Given the description of an element on the screen output the (x, y) to click on. 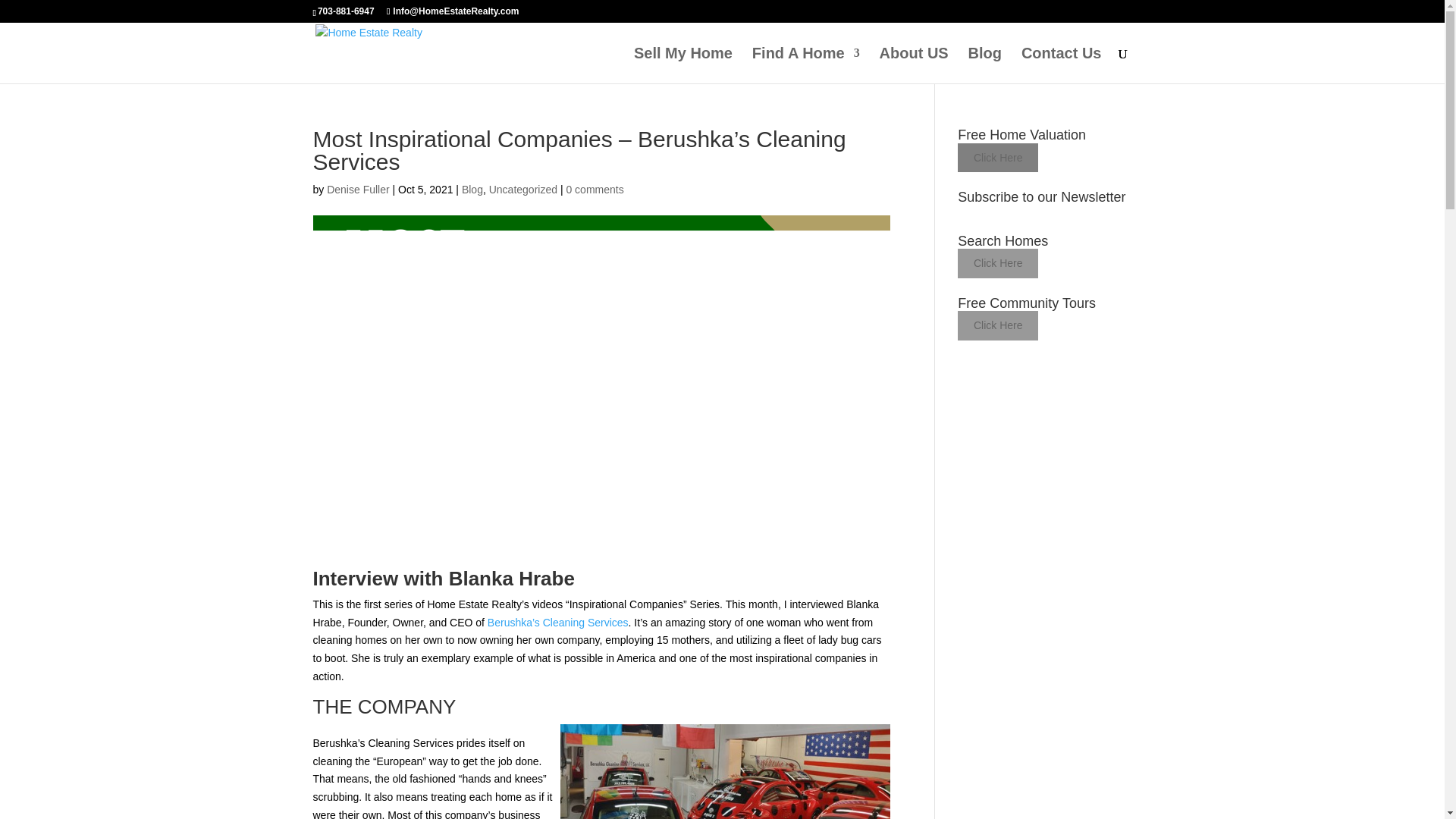
0 comments (594, 189)
Blog (472, 189)
Click Here (998, 157)
Uncategorized (523, 189)
About US (914, 65)
Click Here (998, 325)
Find A Home (806, 65)
Contact Us (1062, 65)
Blog (984, 65)
Click Here (998, 263)
Denise Fuller (357, 189)
Posts by Denise Fuller (357, 189)
Sell My Home (682, 65)
